Given the description of an element on the screen output the (x, y) to click on. 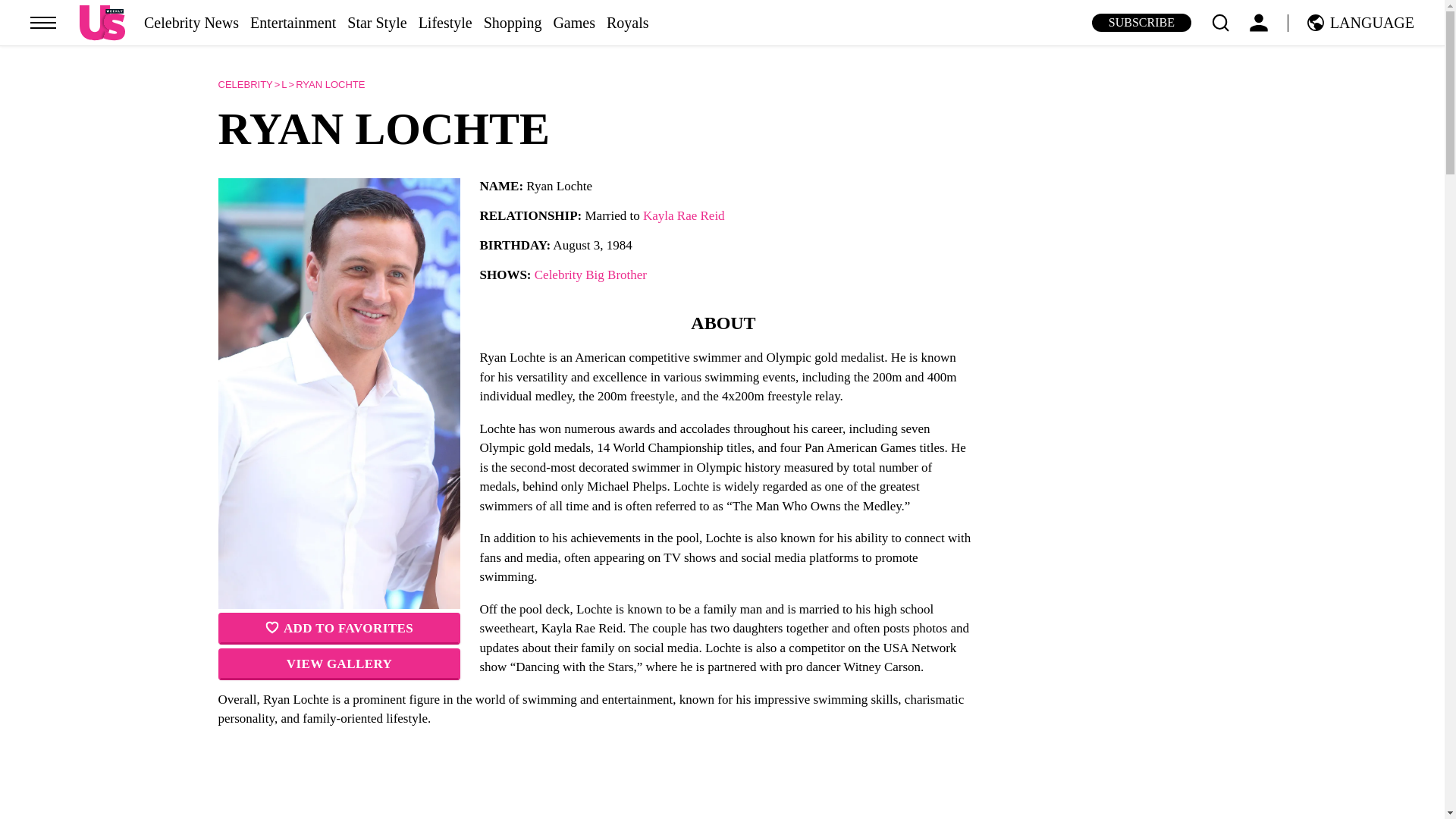
Entertainment (293, 22)
Shopping (512, 22)
Star Style (376, 22)
Us Weekly Magazine (102, 22)
Lifestyle (445, 22)
Celebrity News (191, 22)
Games (574, 22)
